Given the description of an element on the screen output the (x, y) to click on. 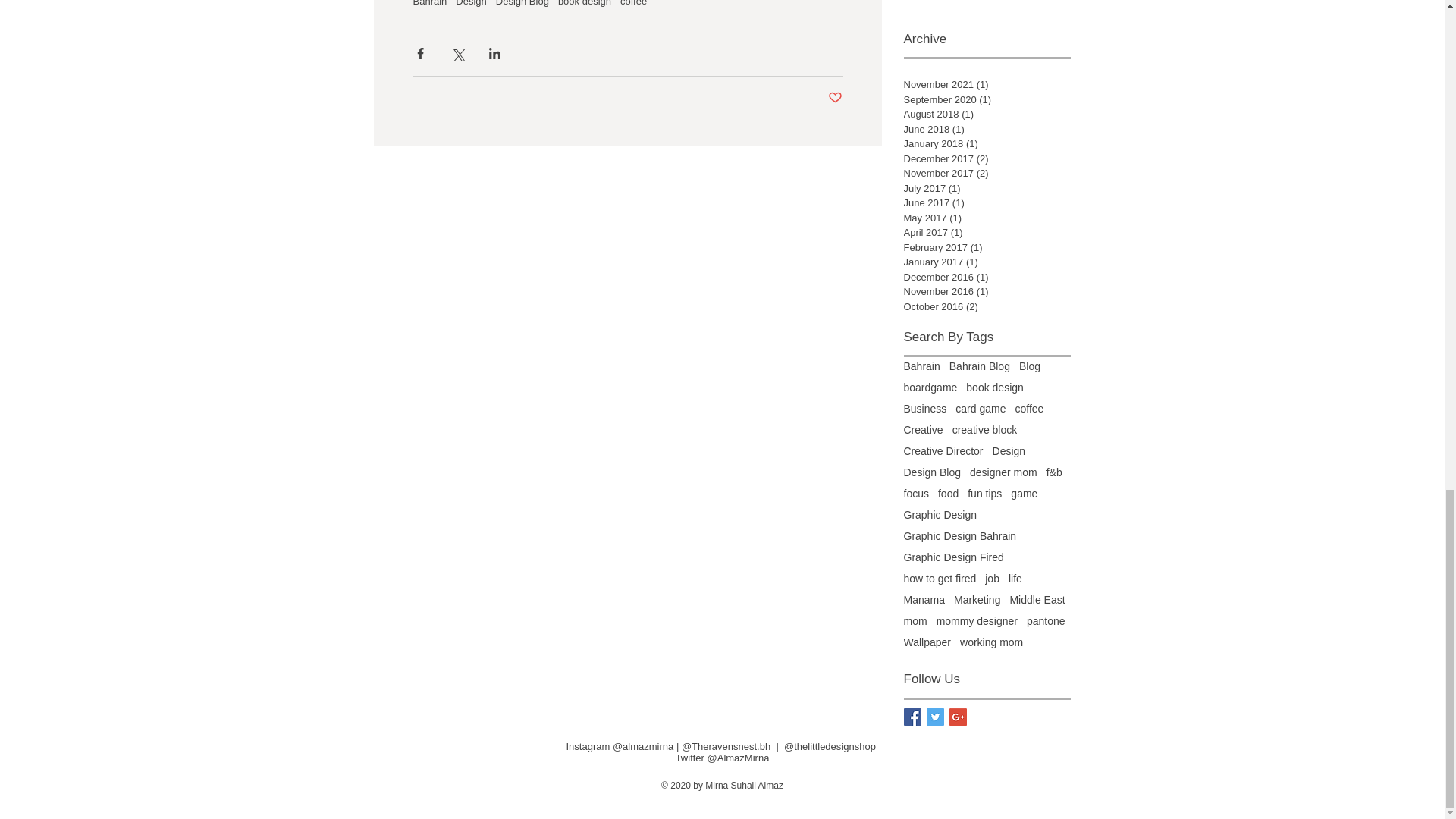
Design Blog (522, 3)
coffee (633, 3)
Post not marked as liked (835, 98)
book design (584, 3)
Bahrain (429, 3)
Design (470, 3)
